Given the description of an element on the screen output the (x, y) to click on. 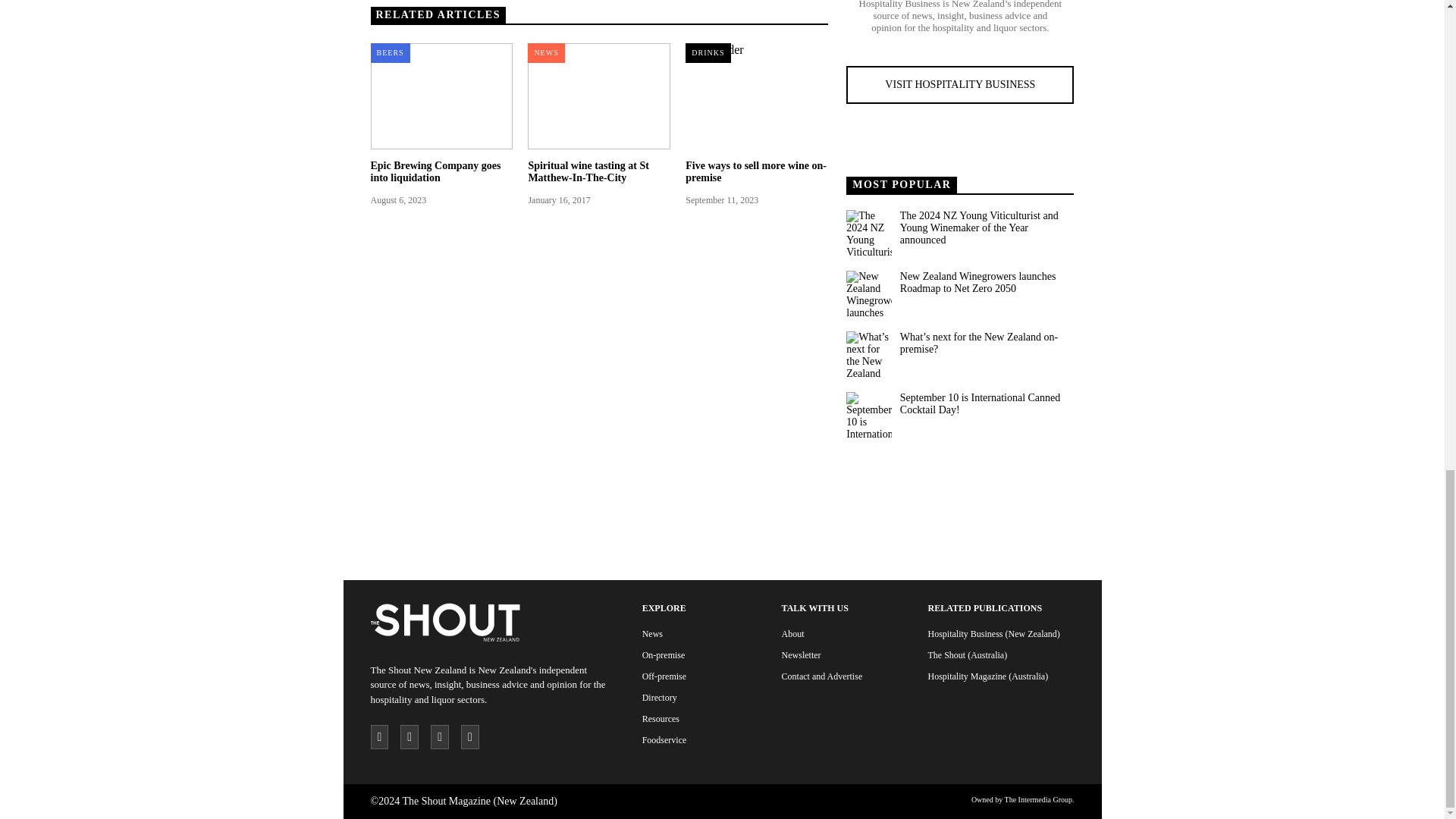
New Zealand Winegrowers launches Roadmap to Net Zero 2050 (986, 282)
New Zealand Winegrowers launches Roadmap to Net Zero 2050 (868, 293)
September 10 is International Canned Cocktail Day! (986, 404)
September 10 is International Canned Cocktail Day! (868, 414)
